Given the description of an element on the screen output the (x, y) to click on. 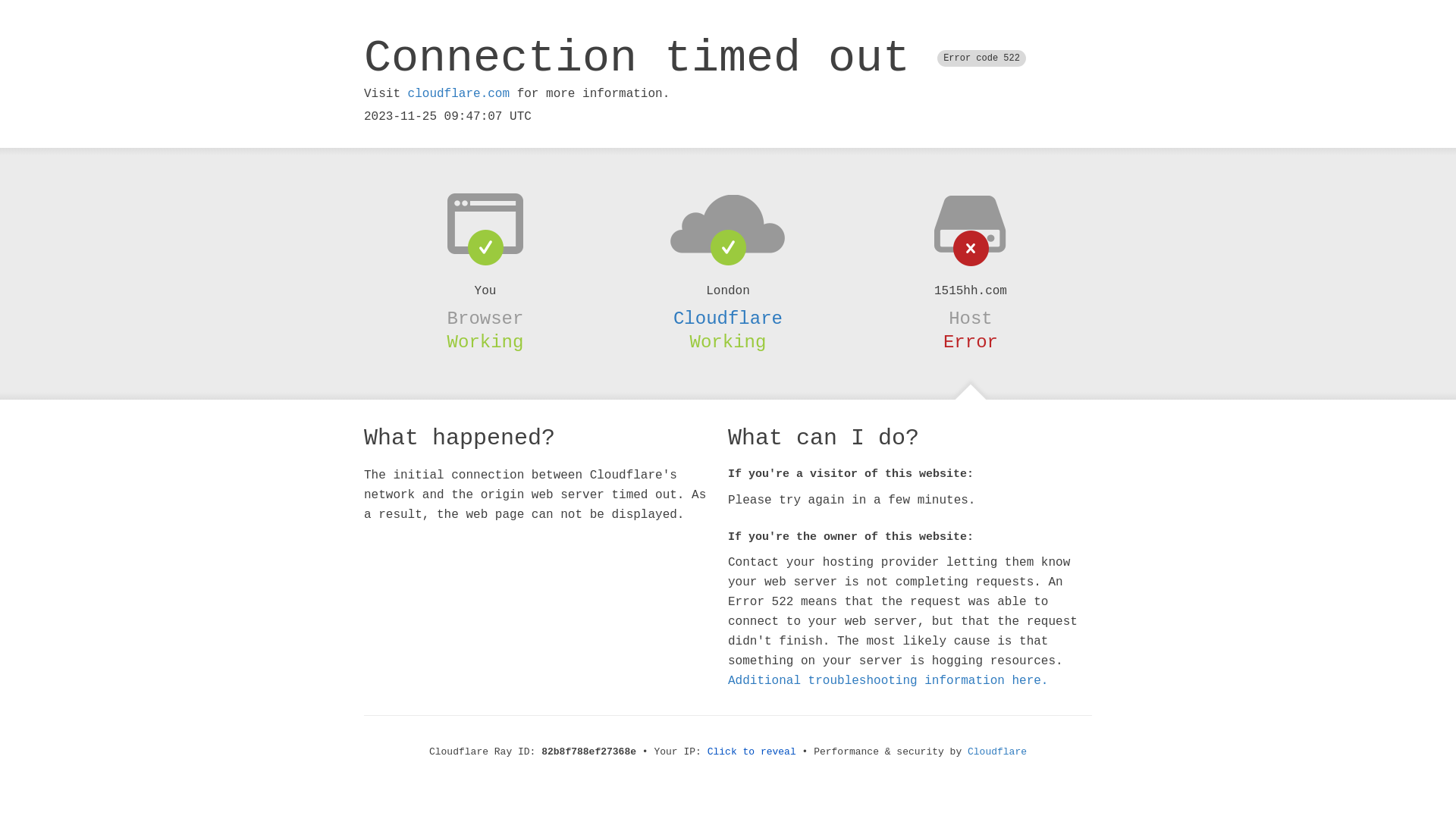
Cloudflare Element type: text (727, 318)
Cloudflare Element type: text (996, 751)
Click to reveal Element type: text (751, 751)
Additional troubleshooting information here. Element type: text (888, 680)
cloudflare.com Element type: text (458, 93)
